Given the description of an element on the screen output the (x, y) to click on. 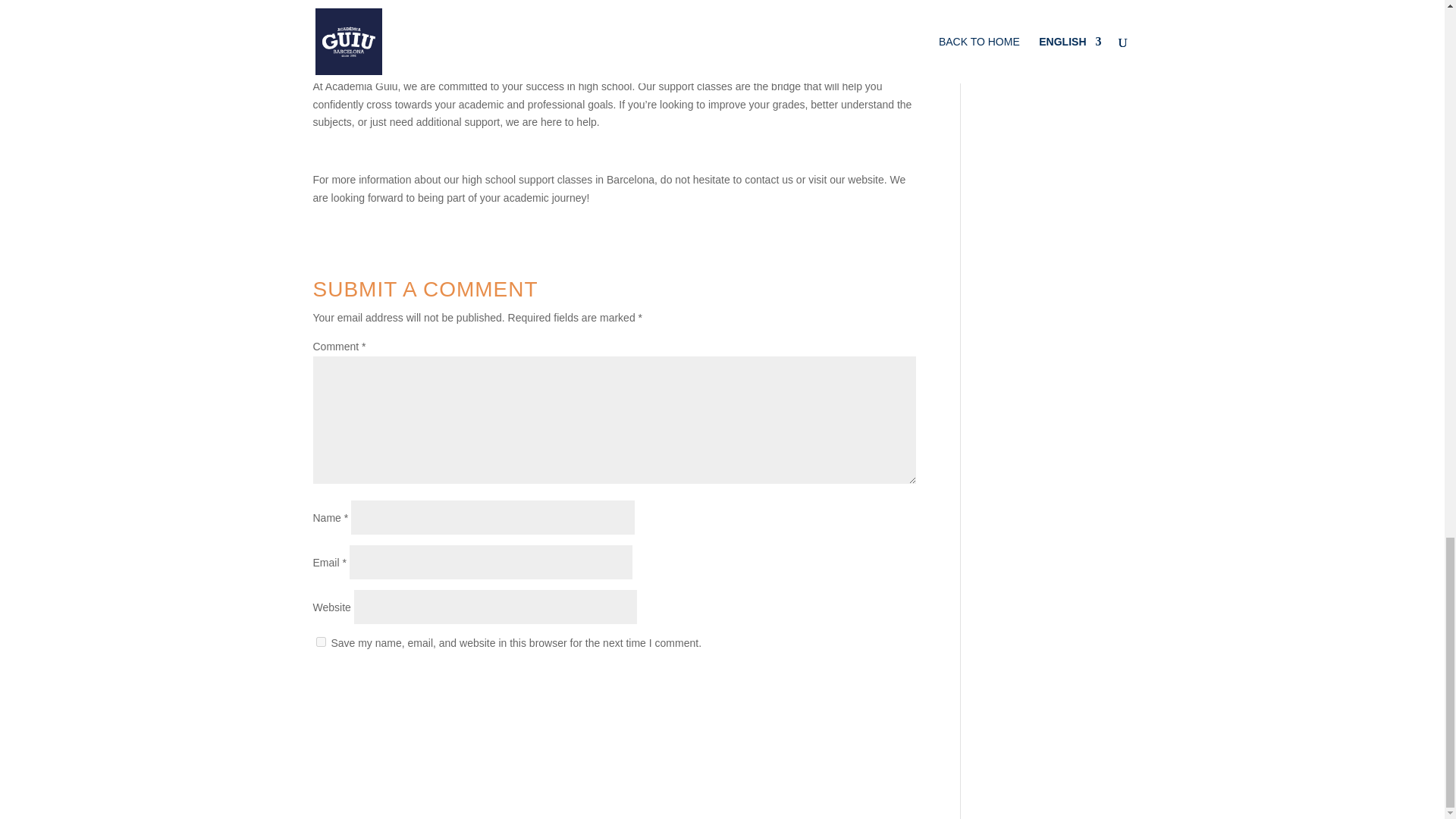
Submit Comment (844, 681)
yes (319, 642)
Submit Comment (844, 681)
